Given the description of an element on the screen output the (x, y) to click on. 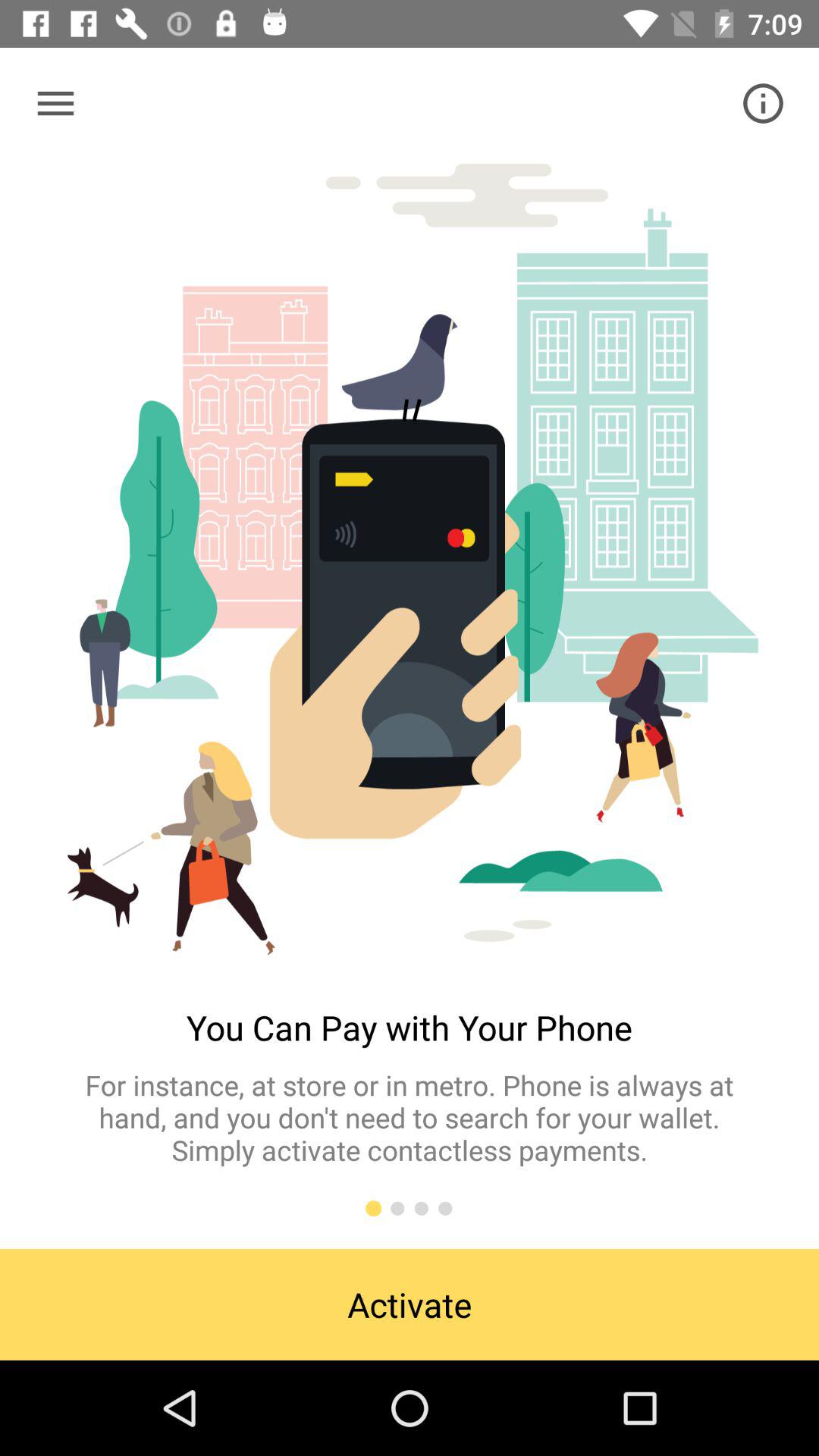
show menu (55, 103)
